Given the description of an element on the screen output the (x, y) to click on. 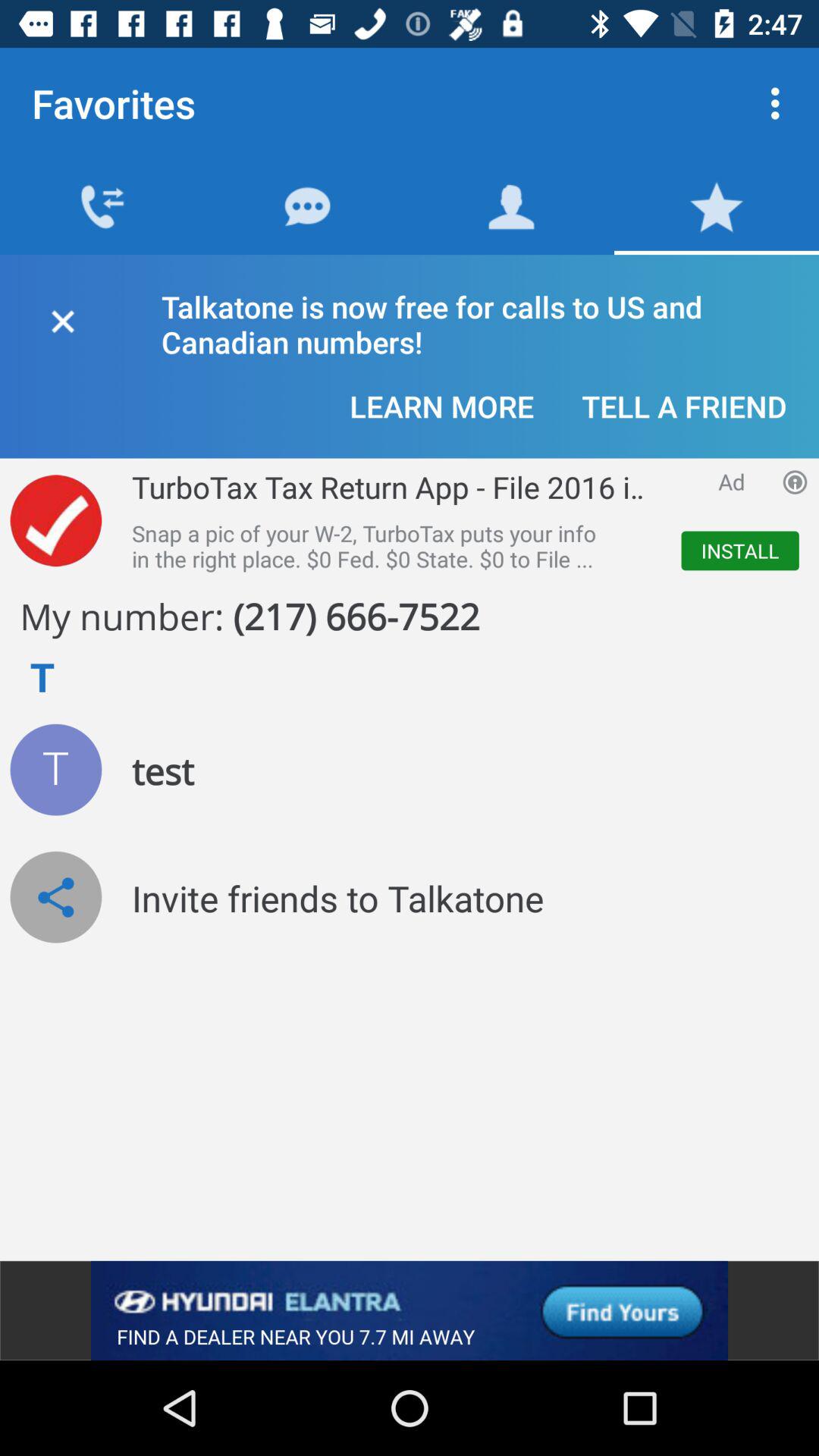
close alert (62, 318)
